Given the description of an element on the screen output the (x, y) to click on. 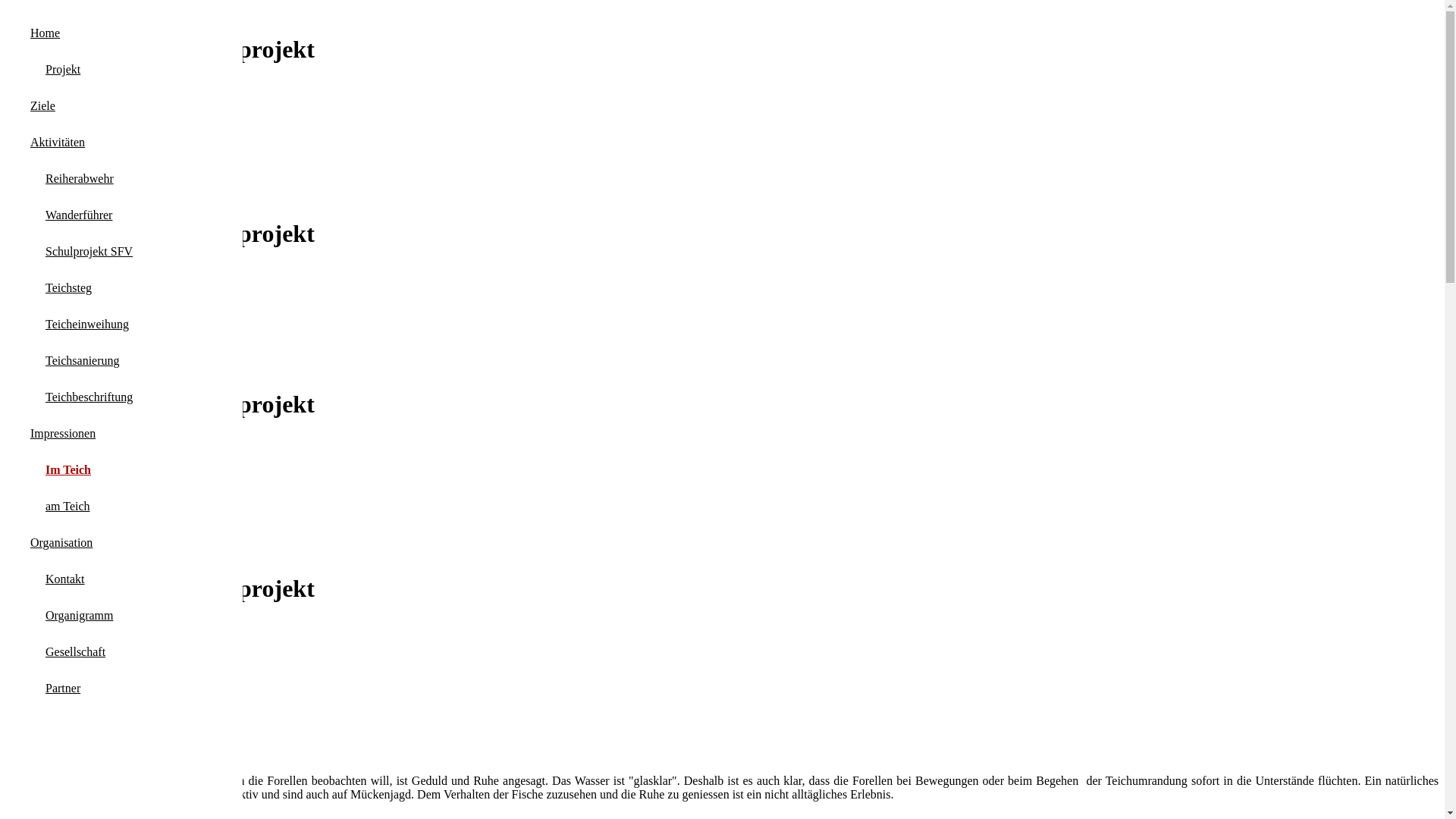
Reiherabwehr Element type: text (71, 178)
Kontakt Element type: text (57, 578)
Home Element type: text (35, 442)
Teichsanierung Element type: text (74, 360)
Home Element type: text (35, 270)
Teichbeschriftung Element type: text (81, 396)
Home Element type: text (44, 32)
Ziele Element type: text (33, 284)
Gesellschaft Element type: text (67, 651)
Impressionen Element type: text (53, 311)
Home Element type: text (35, 87)
Projekt Element type: text (55, 68)
Teicheinweihung Element type: text (79, 323)
Organigramm Element type: text (71, 614)
Ziele Element type: text (33, 455)
Impressionen Element type: text (53, 665)
Impressionen Element type: text (62, 432)
Ziele Element type: text (42, 105)
Impressionen Element type: text (54, 128)
Organisation Element type: text (52, 325)
Home Element type: text (35, 624)
am Teich Element type: text (60, 505)
Organisation Element type: text (61, 542)
Ziele Element type: text (33, 638)
Schulprojekt SFV Element type: text (81, 250)
Organisation Element type: text (52, 679)
Partner Element type: text (55, 687)
Teichsteg Element type: text (60, 287)
Im Teich Element type: text (60, 469)
Organisation Element type: text (52, 496)
Organisation Element type: text (52, 141)
Impressionen Element type: text (54, 482)
Ziele Element type: text (33, 100)
